Given the description of an element on the screen output the (x, y) to click on. 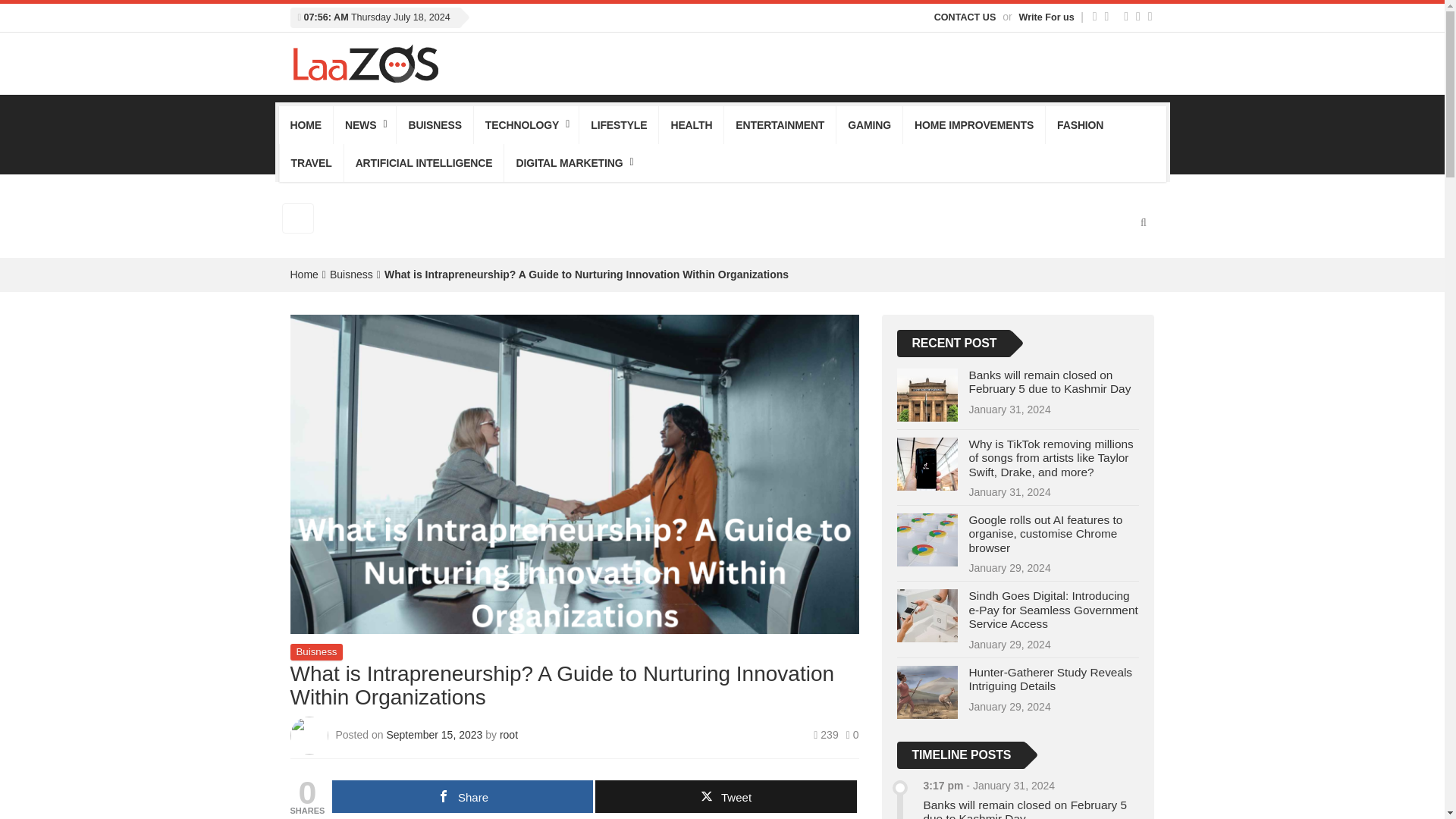
BUISNESS (433, 125)
CONTACT US (964, 17)
Write For us (1048, 17)
LIFESTYLE (618, 125)
Search for: (298, 218)
Home (303, 274)
HOME (306, 125)
HOME IMPROVEMENTS (973, 125)
TECHNOLOGY (526, 125)
FASHION (1080, 125)
ENTERTAINMENT (779, 125)
DIGITAL MARKETING (572, 162)
GAMING (868, 125)
ARTIFICIAL INTELLIGENCE (423, 162)
TRAVEL (310, 162)
